Given the description of an element on the screen output the (x, y) to click on. 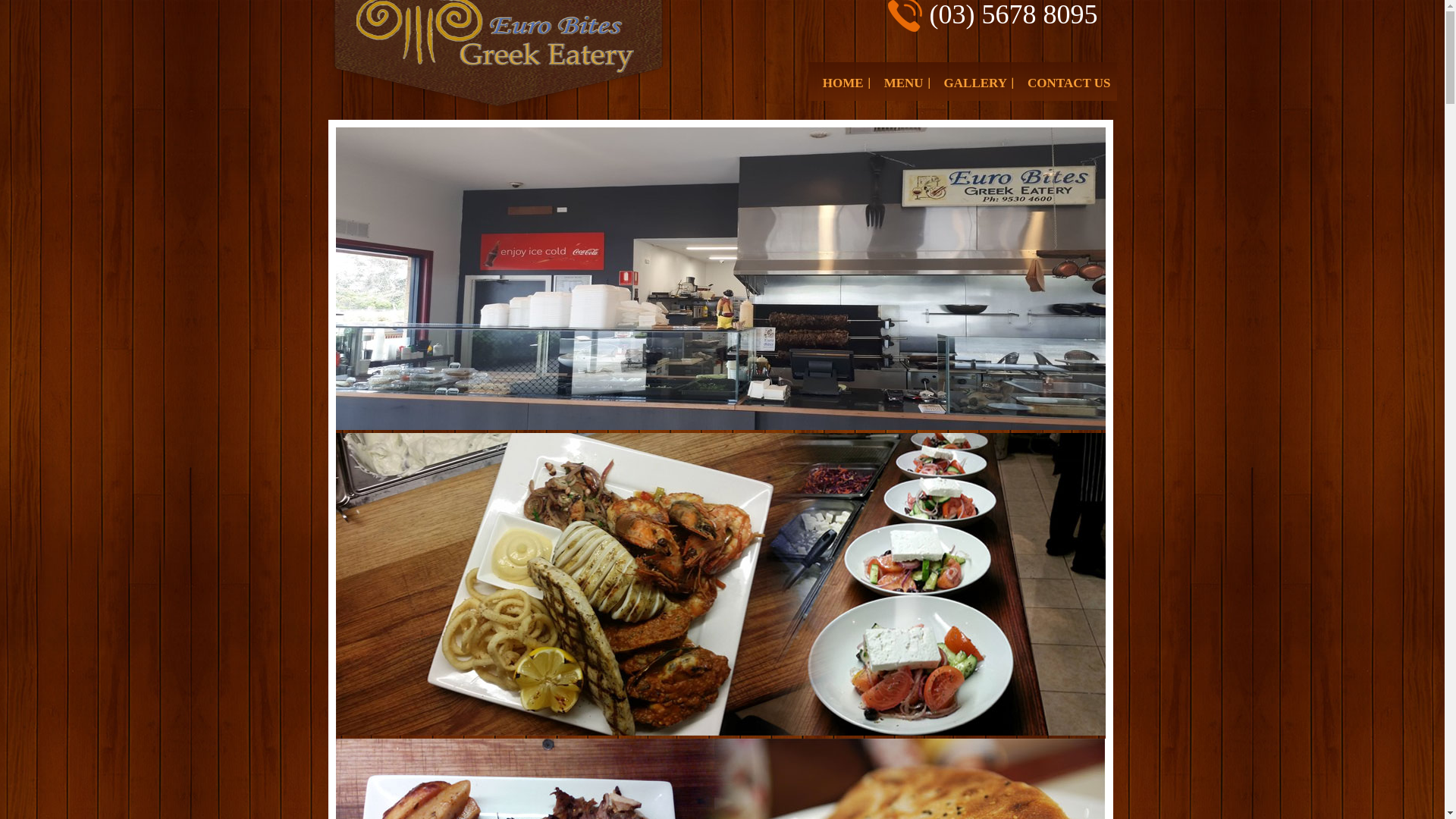
GALLERY Element type: text (975, 82)
HOME Element type: text (842, 82)
MENU Element type: text (903, 82)
CONTACT US Element type: text (1068, 82)
